Given the description of an element on the screen output the (x, y) to click on. 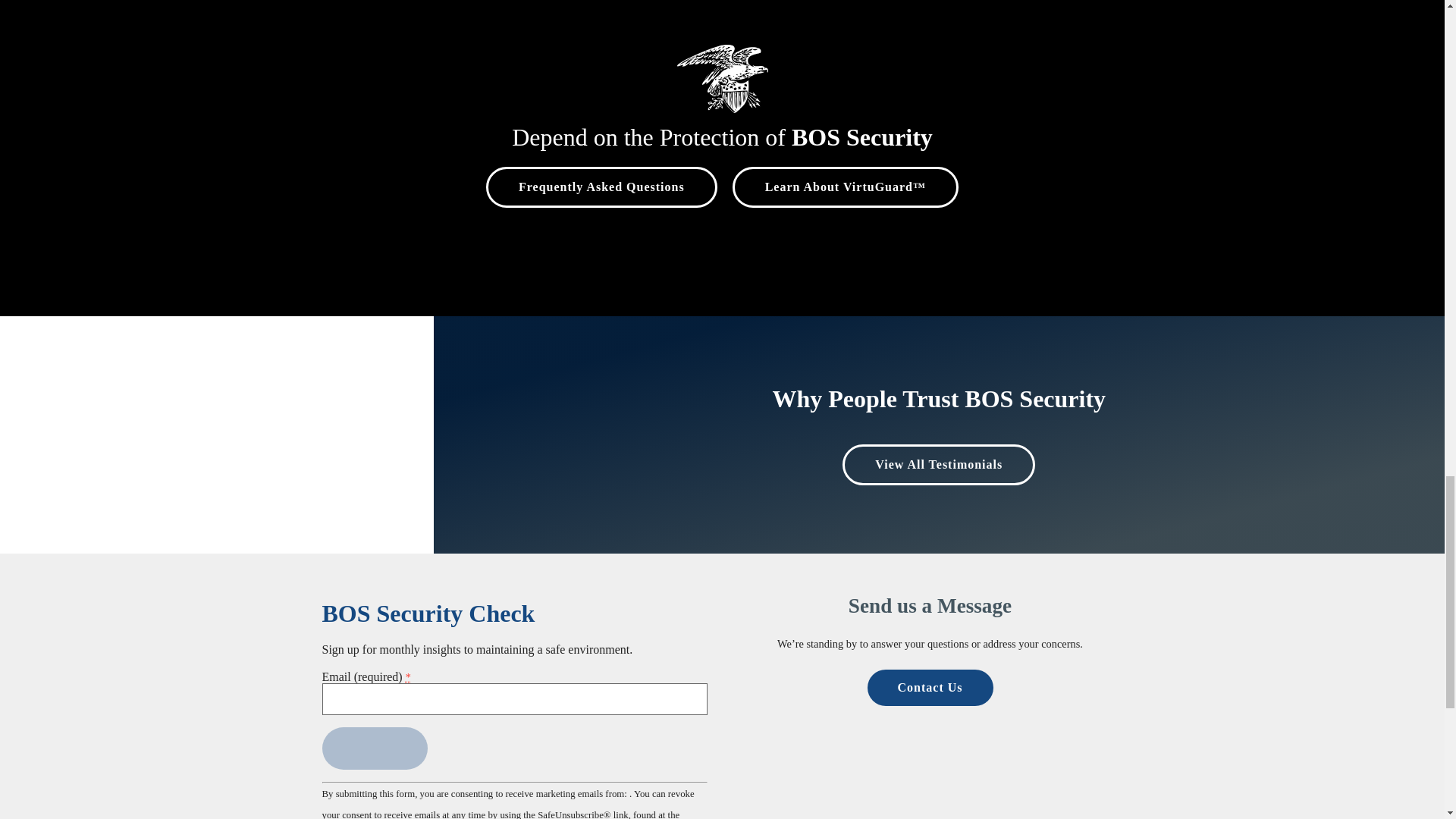
Sign up (373, 748)
